Given the description of an element on the screen output the (x, y) to click on. 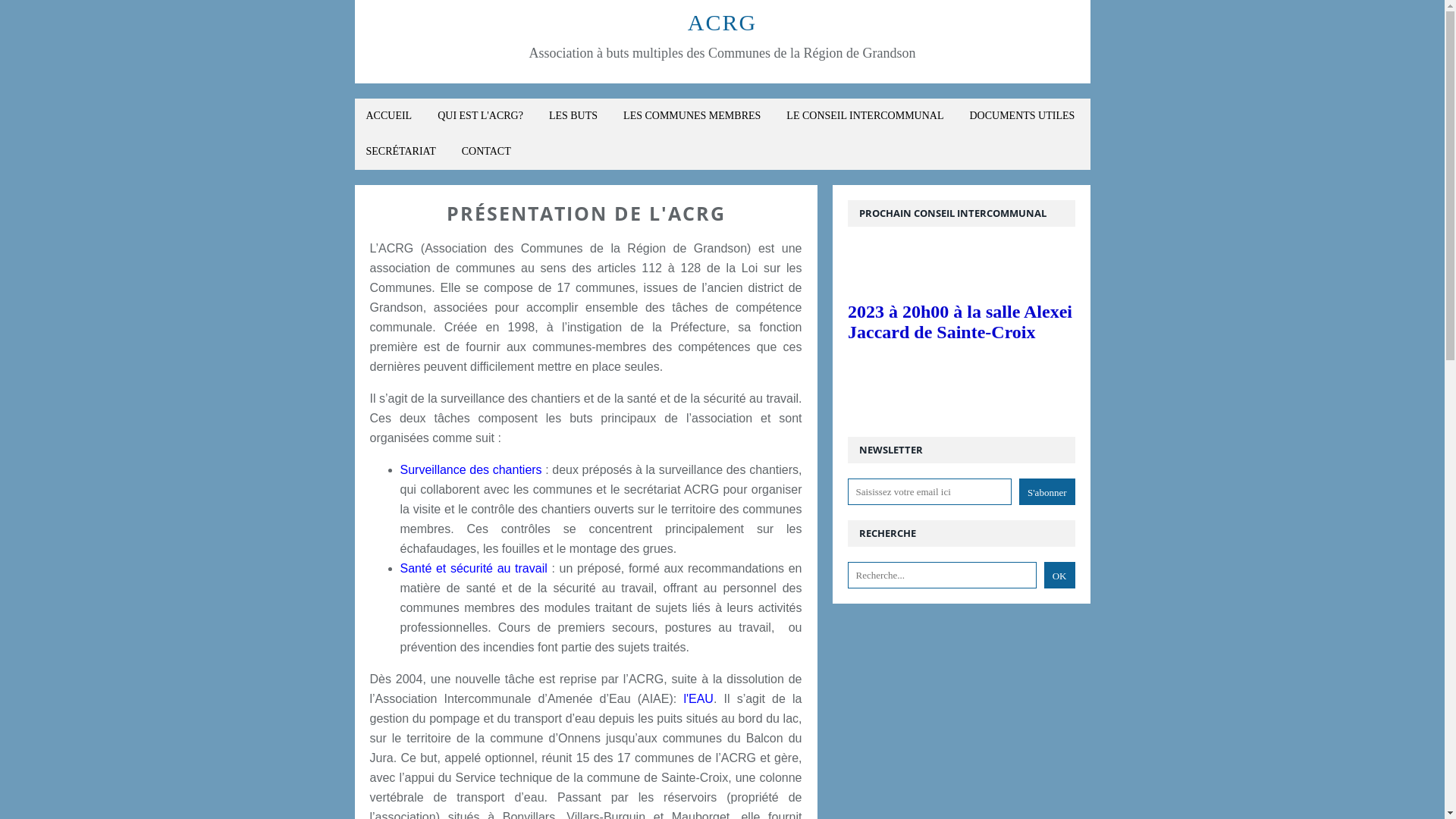
ACCUEIL Element type: text (388, 116)
LES BUTS Element type: text (572, 116)
DOCUMENTS UTILES Element type: text (1021, 116)
l'EAU Element type: text (698, 698)
OK Element type: text (1059, 574)
S'abonner Element type: text (1046, 491)
QUI EST L'ACRG? Element type: text (480, 116)
LES COMMUNES MEMBRES Element type: text (691, 116)
LE CONSEIL INTERCOMMUNAL Element type: text (864, 116)
ACRG Element type: text (721, 21)
Surveillance des chantiers Element type: text (471, 469)
CONTACT Element type: text (486, 151)
